Given the description of an element on the screen output the (x, y) to click on. 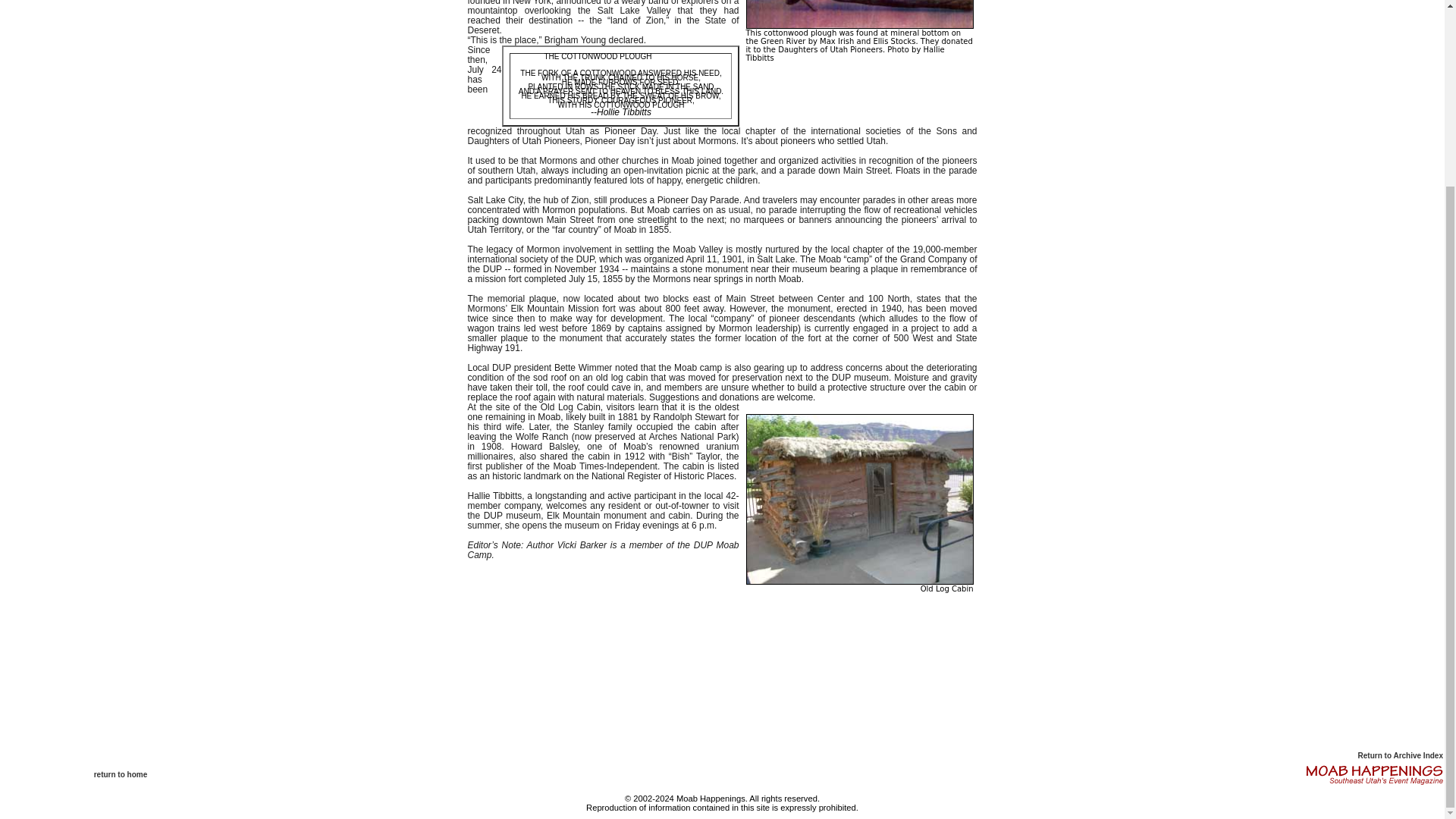
Return to Archive Index (1400, 755)
return to home (121, 774)
